Given the description of an element on the screen output the (x, y) to click on. 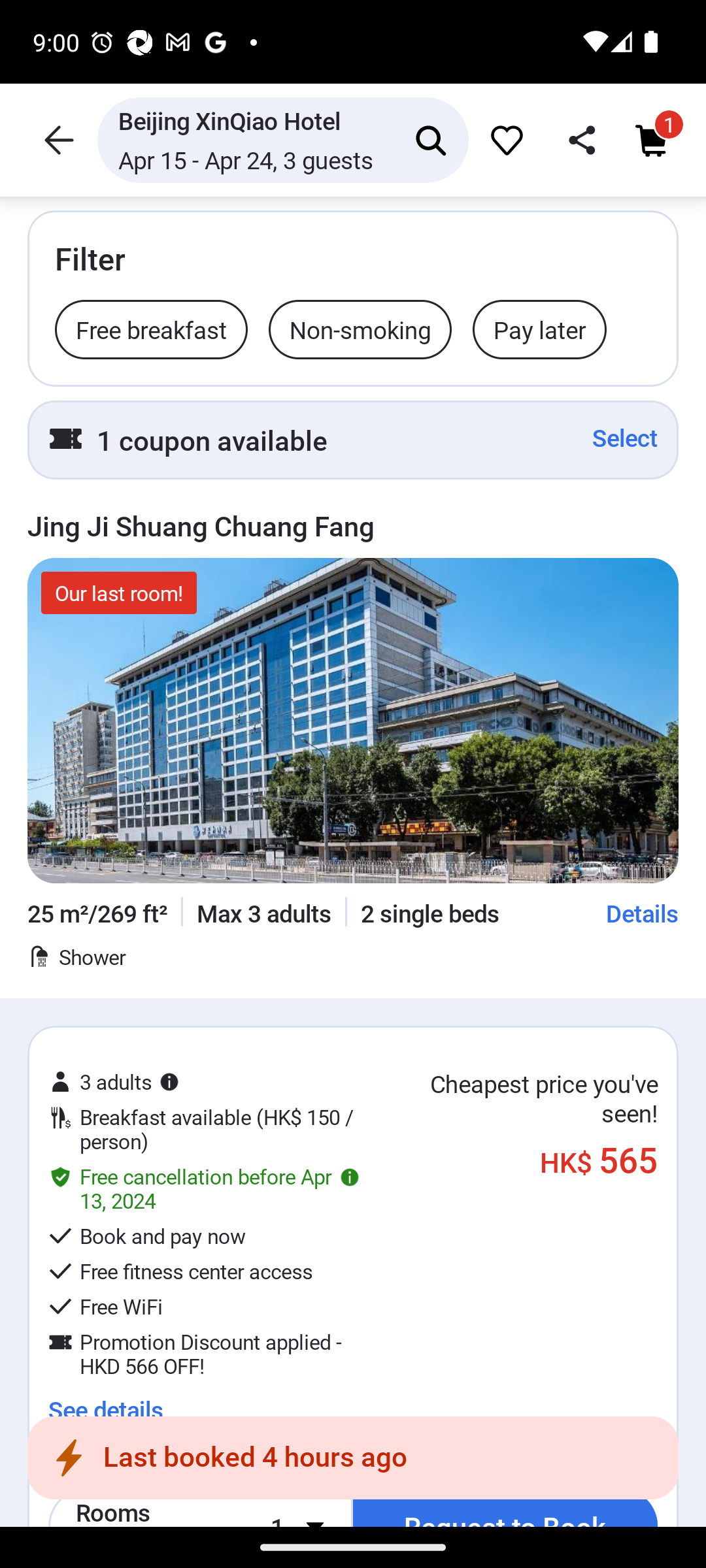
header icon (57, 139)
favorite_icon 51e95598 (503, 139)
share_header_icon (577, 139)
Cart icon cart_item_count 1 (653, 139)
Free breakfast (151, 329)
Non-smoking (359, 329)
Pay later (539, 329)
Select (624, 437)
1 coupon available Select (353, 440)
Image with blurhash (352, 720)
Details (642, 912)
3 adults (114, 1081)
Free cancellation before Apr 13, 2024 (204, 1188)
